Given the description of an element on the screen output the (x, y) to click on. 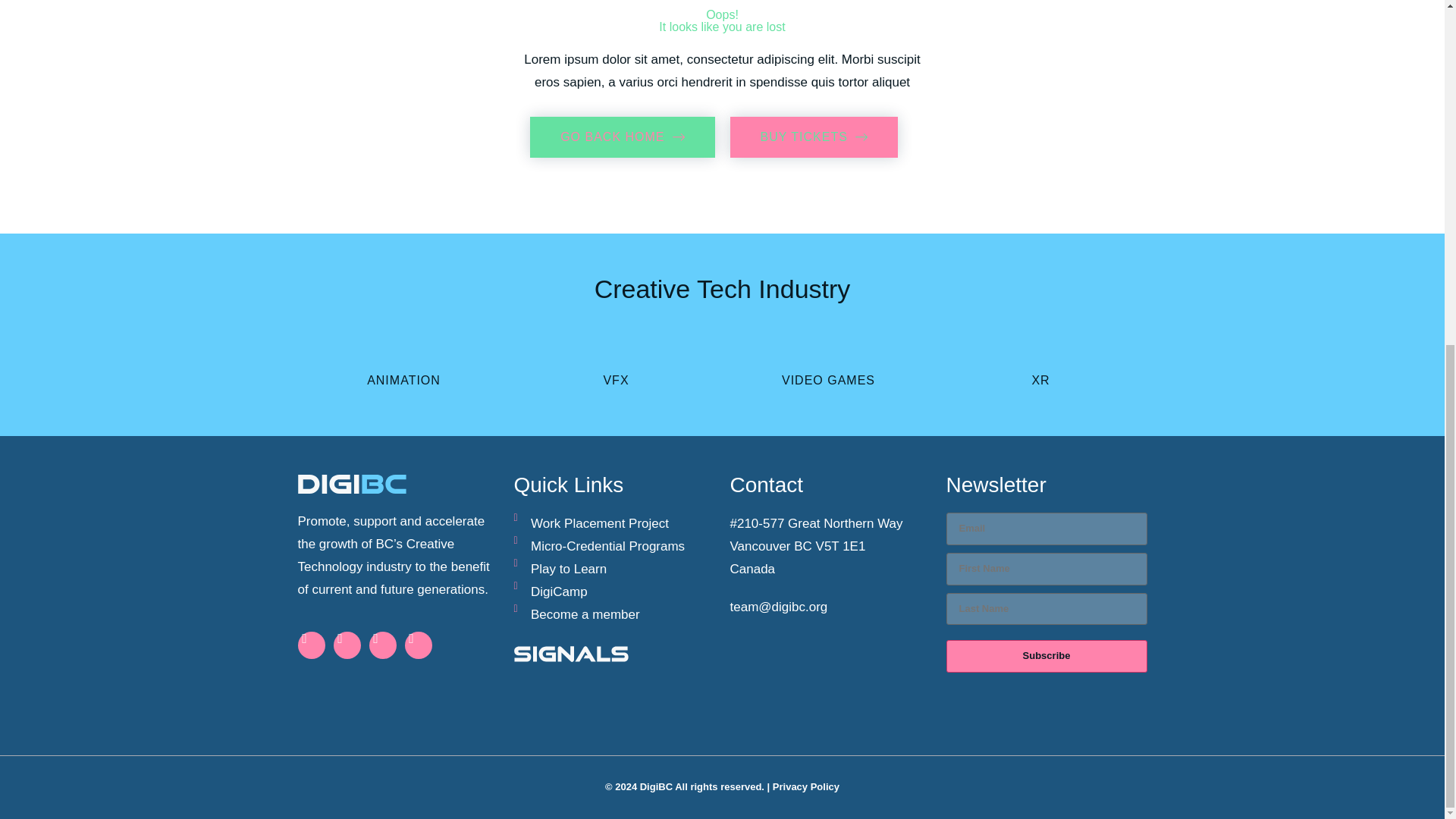
Work Placement Project (613, 523)
DigiCamp (812, 137)
Subscribe (613, 591)
ARROW-ICON-SIZE3 (1046, 655)
Privacy Policy (861, 136)
ARROW-ICON-SIZE3 (806, 786)
Play to Learn (621, 137)
Micro-Credential Programs (677, 136)
